Given the description of an element on the screen output the (x, y) to click on. 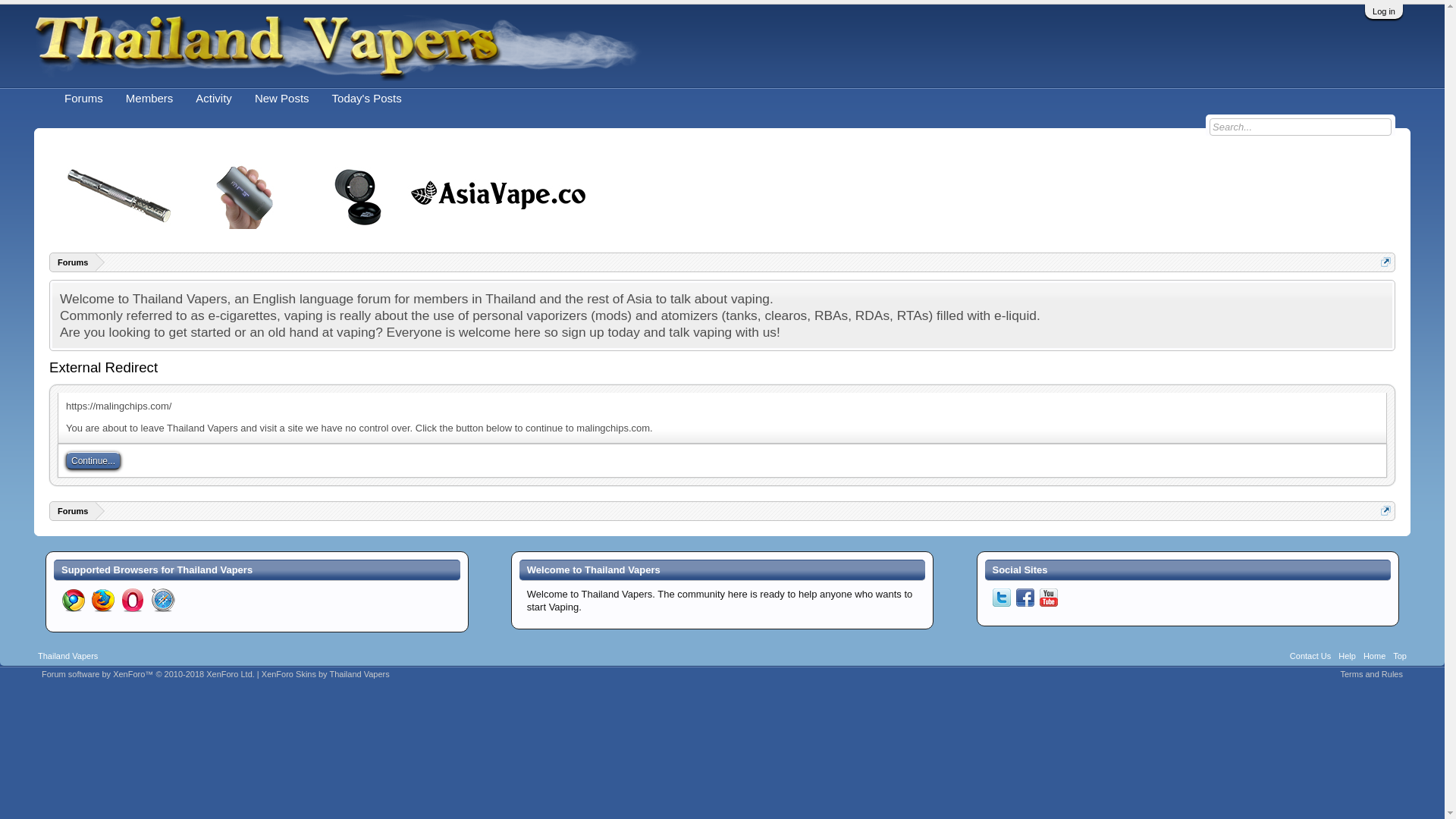
Enter your search and hit enter (1300, 126)
Help (1347, 656)
Terms and Rules (1371, 673)
Open quick navigation (1385, 510)
Activity (213, 97)
New Posts (281, 97)
Thailand Vapers (67, 656)
Continue... (92, 460)
Contact Us (1310, 656)
Home (1374, 656)
Today's Posts (366, 97)
Open quick navigation (1385, 261)
XenForo Skins by Thailand Vapers (326, 673)
Top (1399, 656)
Forums (72, 511)
